Given the description of an element on the screen output the (x, y) to click on. 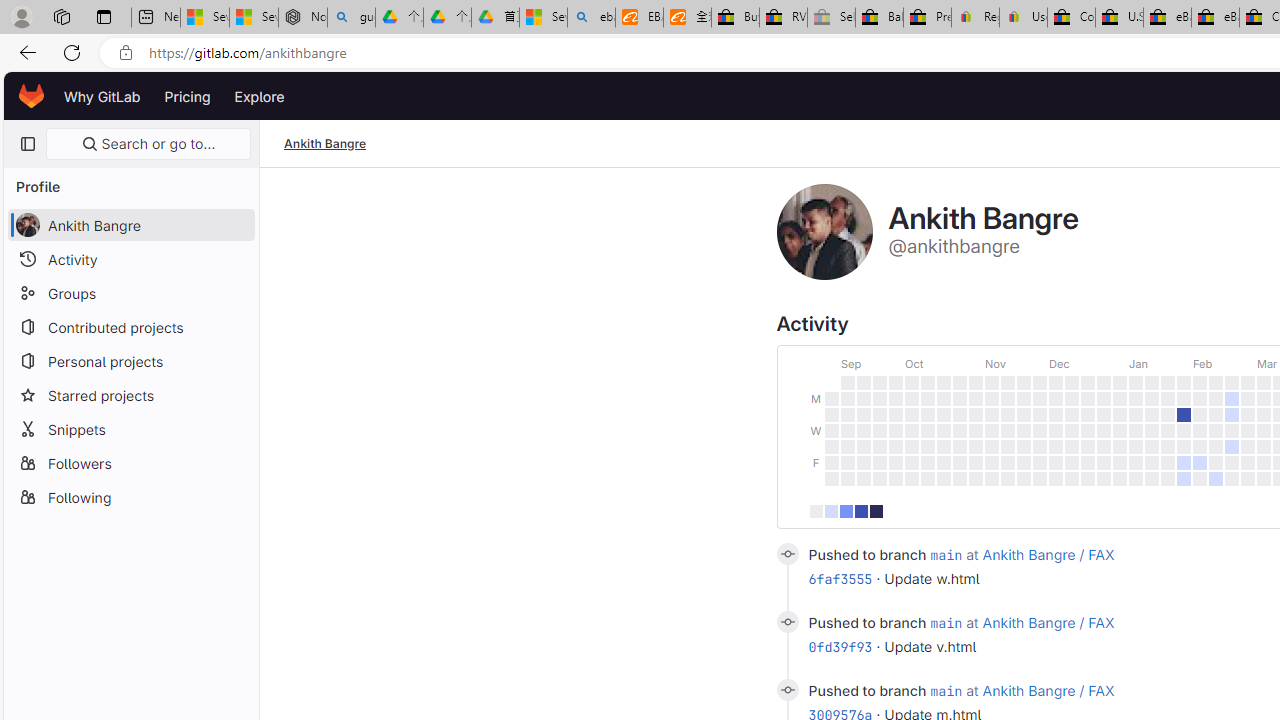
Register: Create a personal eBay account (975, 17)
